Given the description of an element on the screen output the (x, y) to click on. 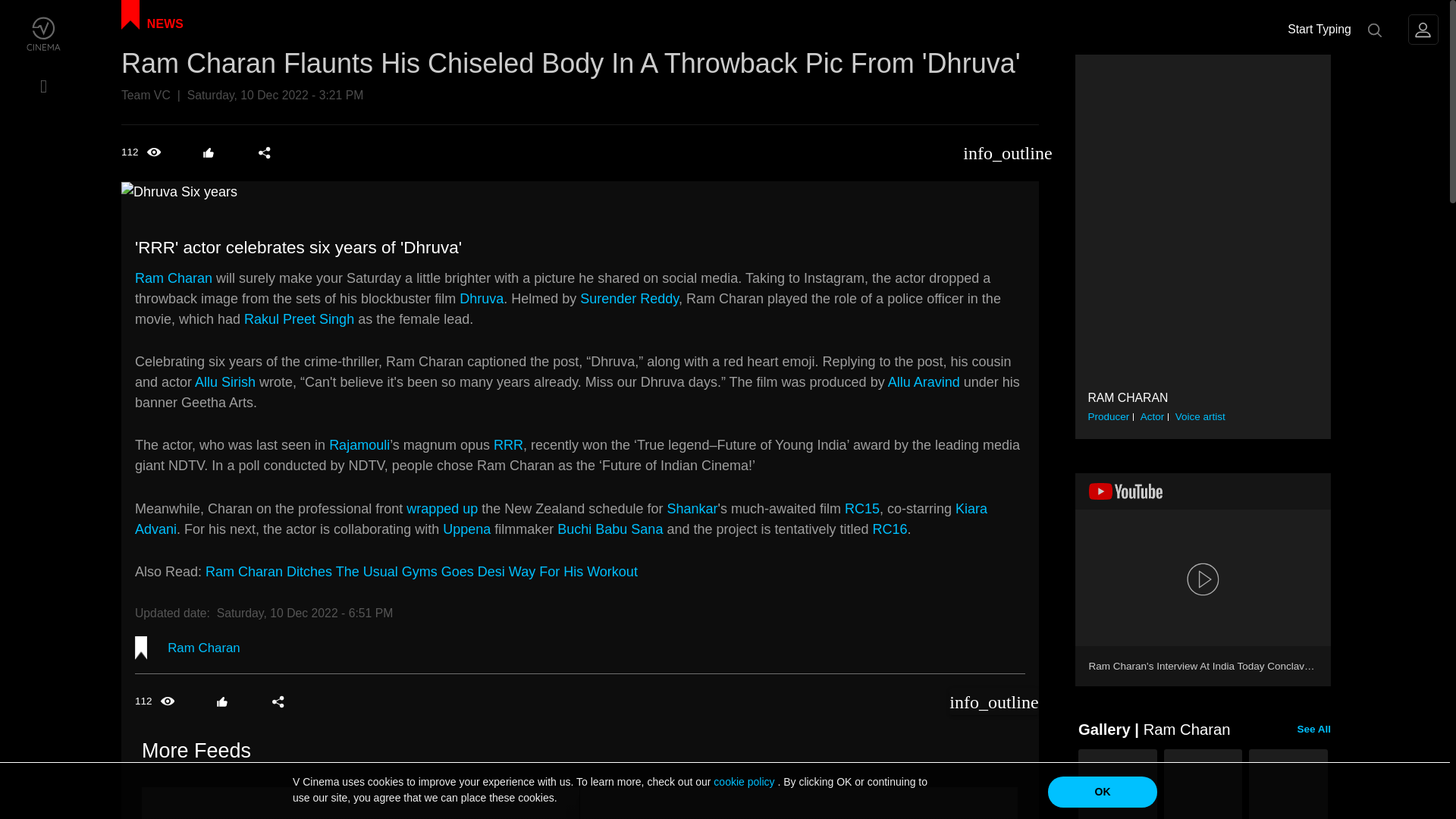
See All (1314, 729)
Allu Sirish (225, 381)
RRR (507, 444)
voice artist (1199, 415)
RC16 (889, 529)
Rakul Preet Singh (298, 319)
actor (1152, 415)
Kiara Advani (561, 519)
RC15 (861, 508)
wrapped up (441, 508)
Dhruva (481, 298)
Ram Charan (203, 647)
Ram Charan (173, 278)
Buchi Babu Sana (609, 529)
